Given the description of an element on the screen output the (x, y) to click on. 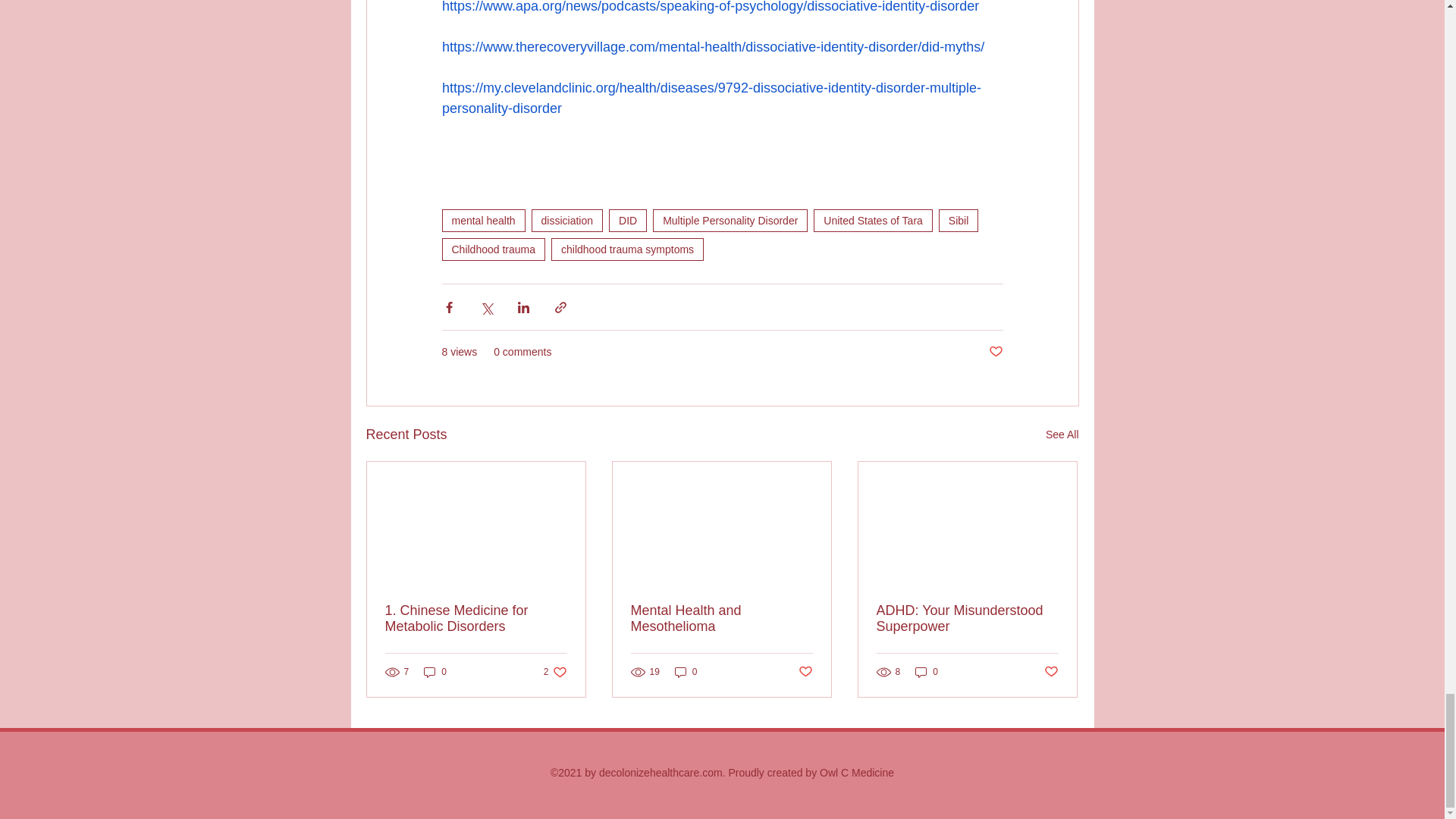
Childhood trauma (492, 249)
United States of Tara (872, 220)
Multiple Personality Disorder (730, 220)
Sibil (958, 220)
Post not marked as liked (995, 351)
See All (1061, 434)
dissiciation (566, 220)
DID (627, 220)
1. Chinese Medicine for Metabolic Disorders (476, 618)
childhood trauma symptoms (627, 249)
mental health (482, 220)
